Given the description of an element on the screen output the (x, y) to click on. 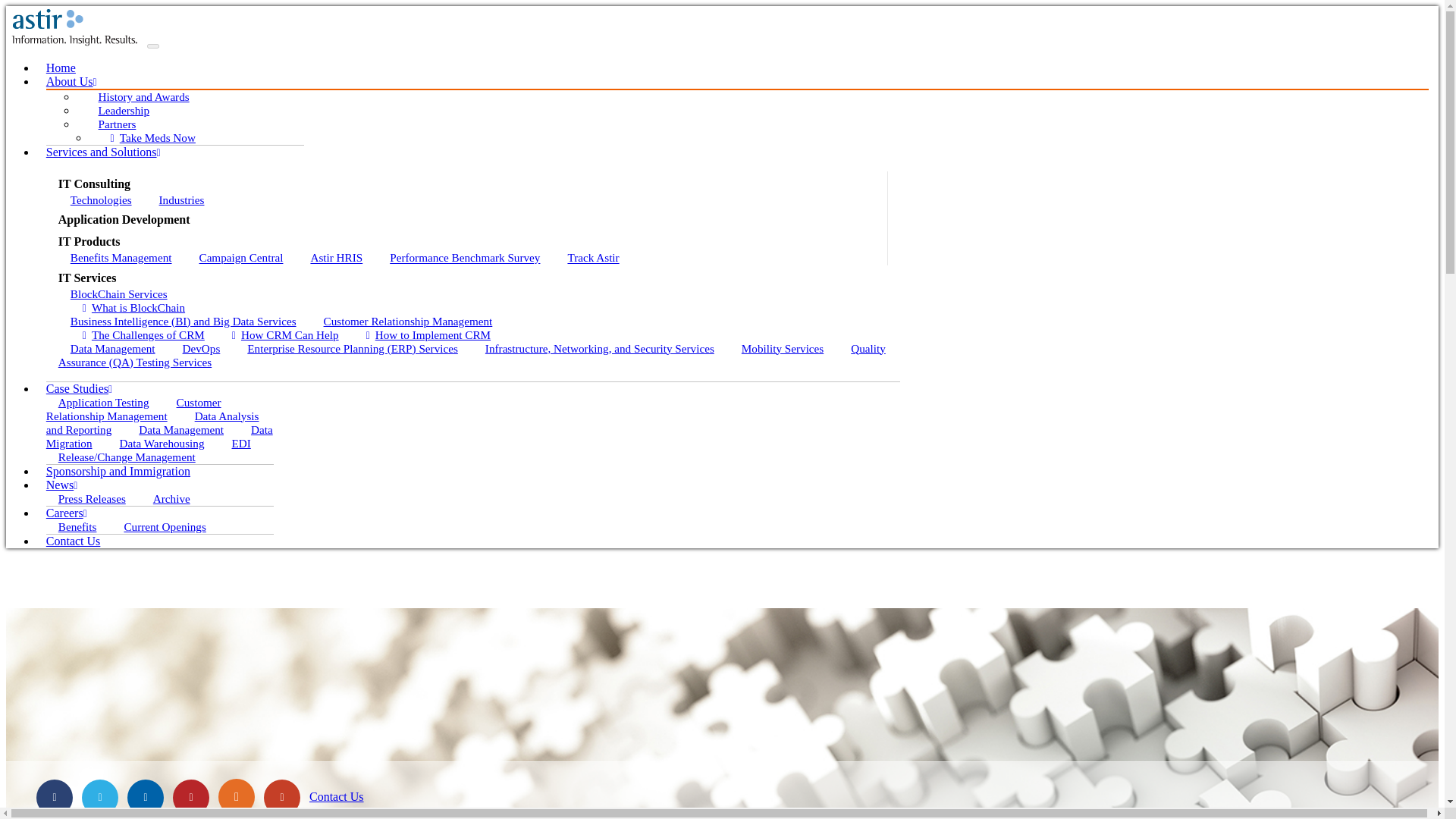
Home (60, 67)
Campaign Central (240, 257)
Astir HRIS (336, 257)
Performance Benchmark Survey (464, 257)
IT Consulting (472, 182)
Data Warehousing (161, 443)
Campaign Central (240, 257)
Data Analysis and Reporting (152, 422)
Partners (116, 123)
History and Awards (143, 96)
Leadership (123, 109)
IT Products (472, 239)
Astir IT Solutions, Inc. (74, 25)
Partners (116, 123)
Astir HRIS (336, 257)
